Given the description of an element on the screen output the (x, y) to click on. 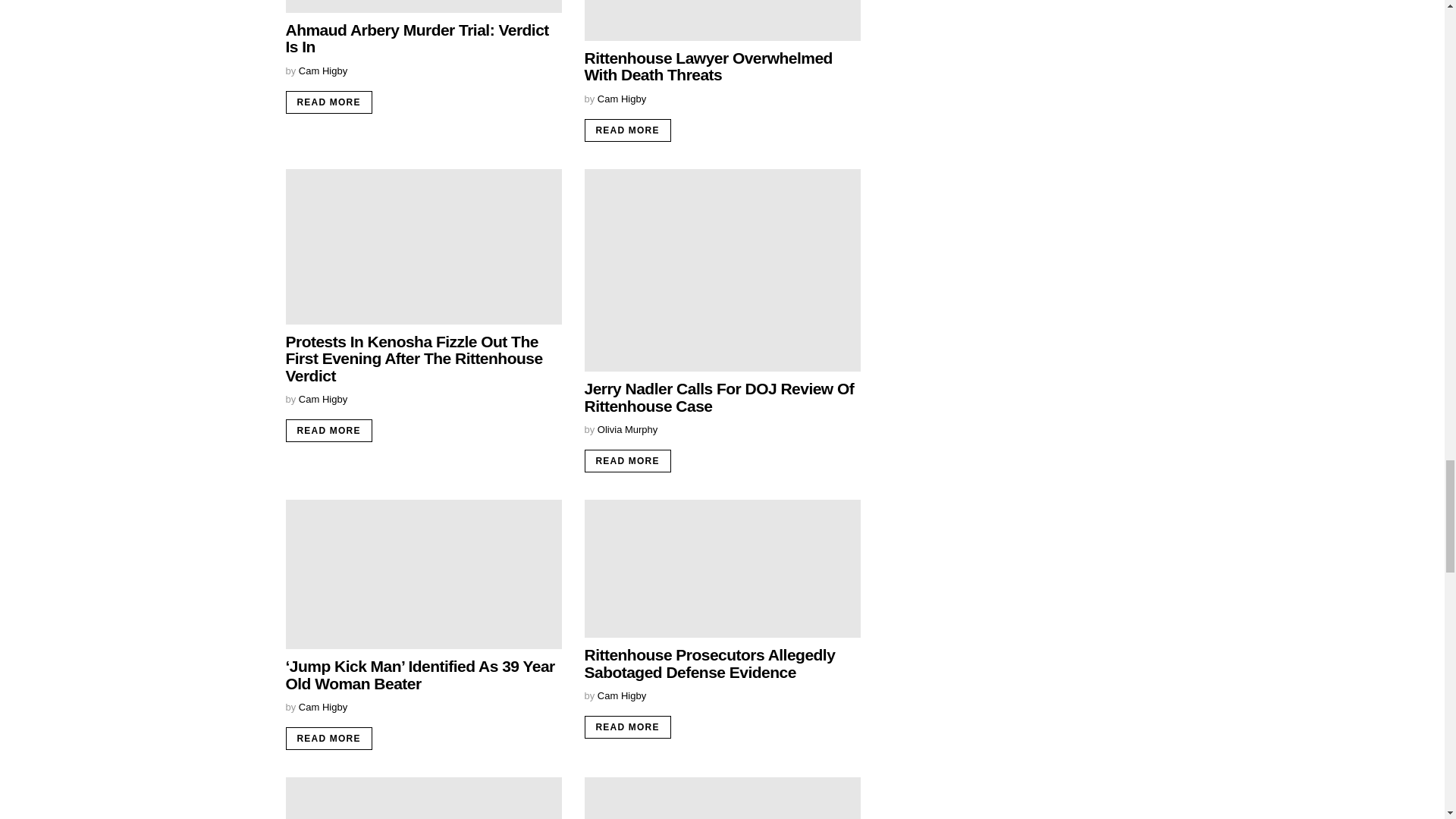
Ahmaud Arbery Murder Trial: Verdict Is In (422, 6)
